Given the description of an element on the screen output the (x, y) to click on. 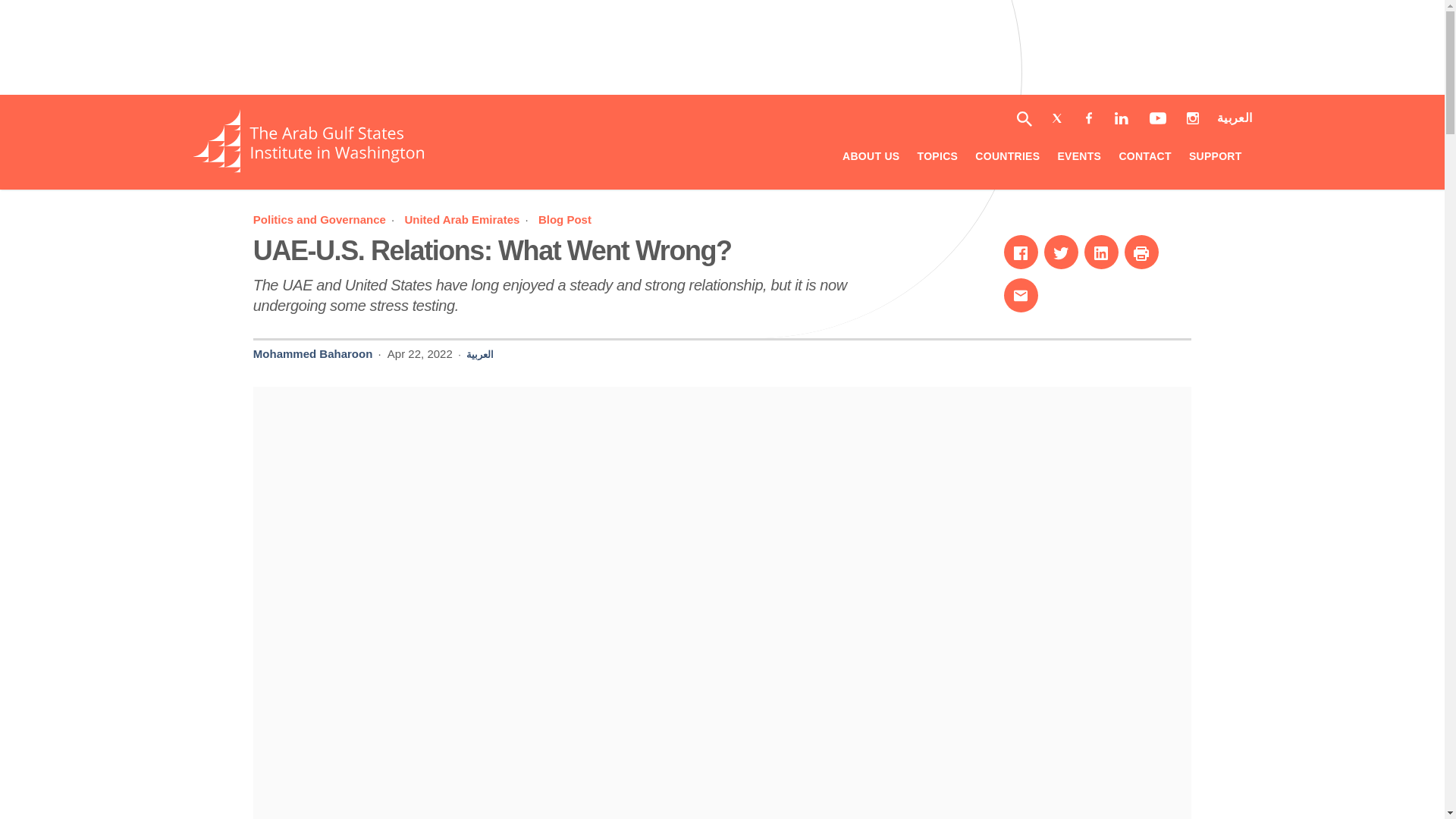
Click to share on Twitter (1060, 252)
The Arab Gulf States Institute in Washington (307, 168)
TOPICS (937, 157)
UAE-U.S. Relations: What Went Wrong? (492, 250)
UAE-U.S. Relations: What Went Wrong? (564, 219)
SUPPORT (492, 250)
COUNTRIES (1215, 157)
